Given the description of an element on the screen output the (x, y) to click on. 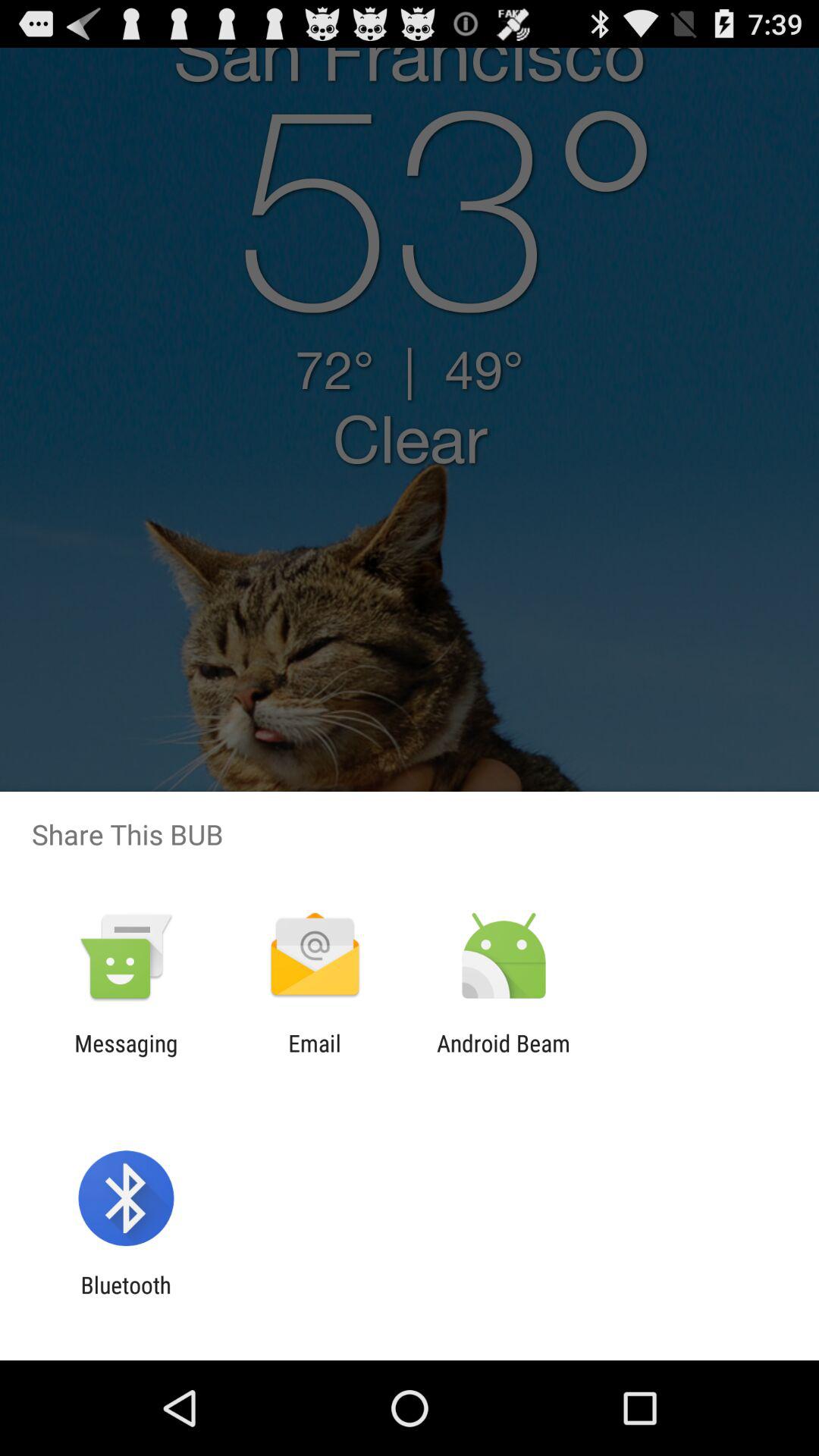
swipe to the messaging app (126, 1056)
